Given the description of an element on the screen output the (x, y) to click on. 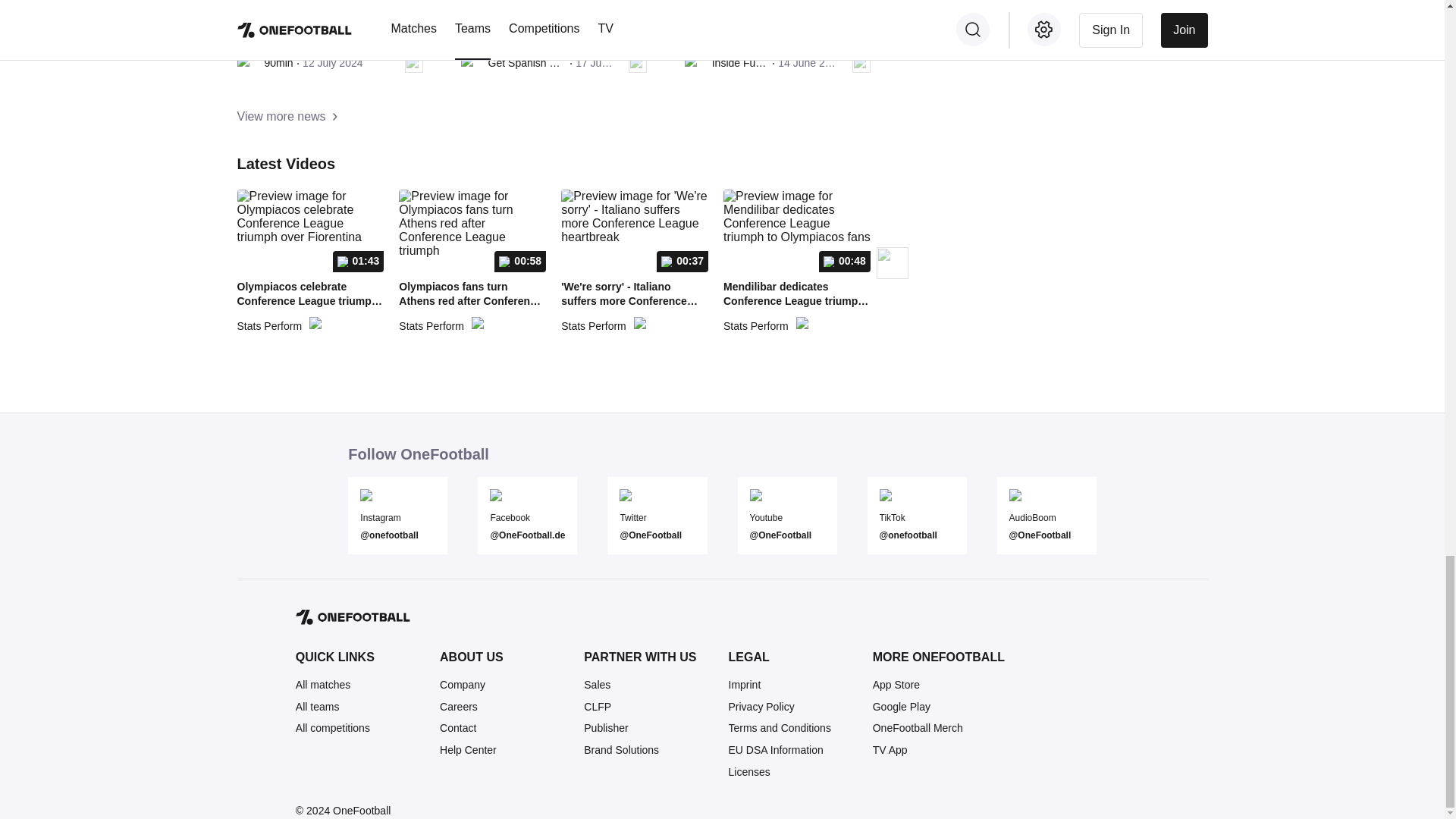
TikTok (917, 517)
Youtube (786, 517)
Instagram (397, 517)
Twitter (657, 517)
Facebook (526, 517)
